Given the description of an element on the screen output the (x, y) to click on. 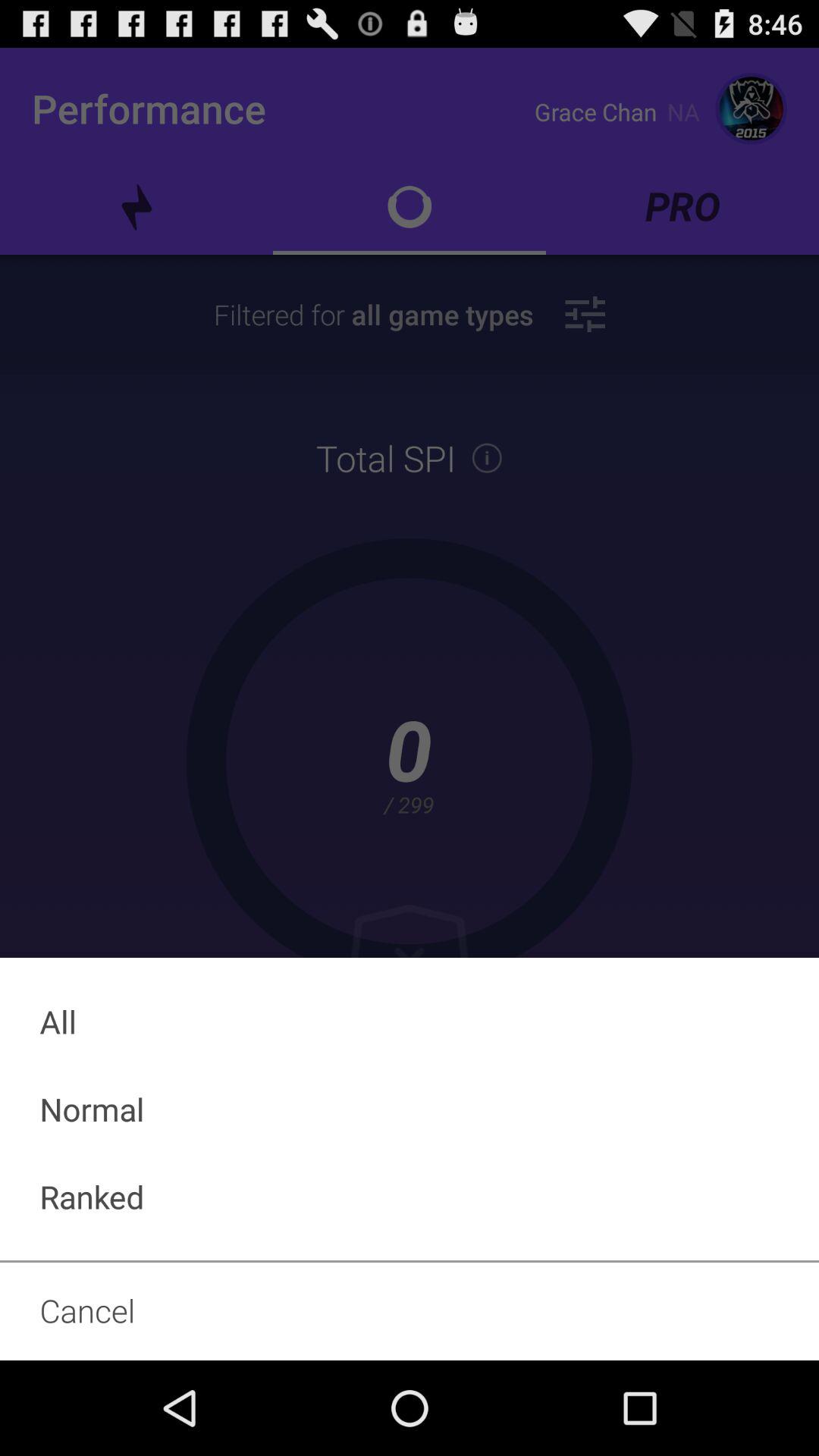
swipe until all item (409, 1021)
